Given the description of an element on the screen output the (x, y) to click on. 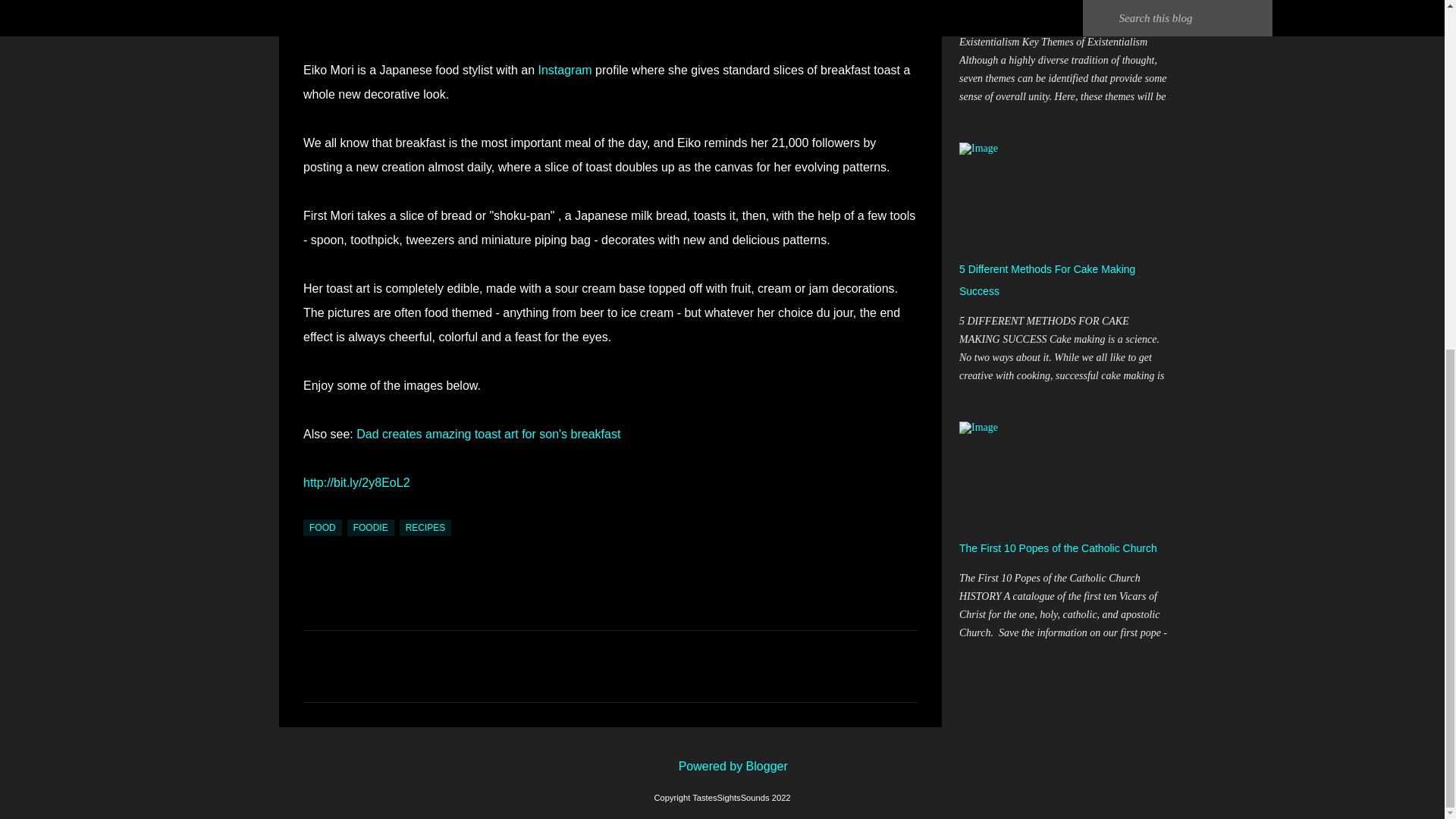
RECIPES (424, 527)
Email Post (311, 510)
Existentialism. Key Themes and Art (1042, 11)
The First 10 Popes of the Catholic Church (1058, 548)
Powered by Blogger (721, 766)
5 Different Methods For Cake Making Success (1047, 279)
FOODIE (370, 527)
Instagram (564, 69)
Dad creates amazing toast art for son's breakfast (488, 433)
FOOD (322, 527)
